Given the description of an element on the screen output the (x, y) to click on. 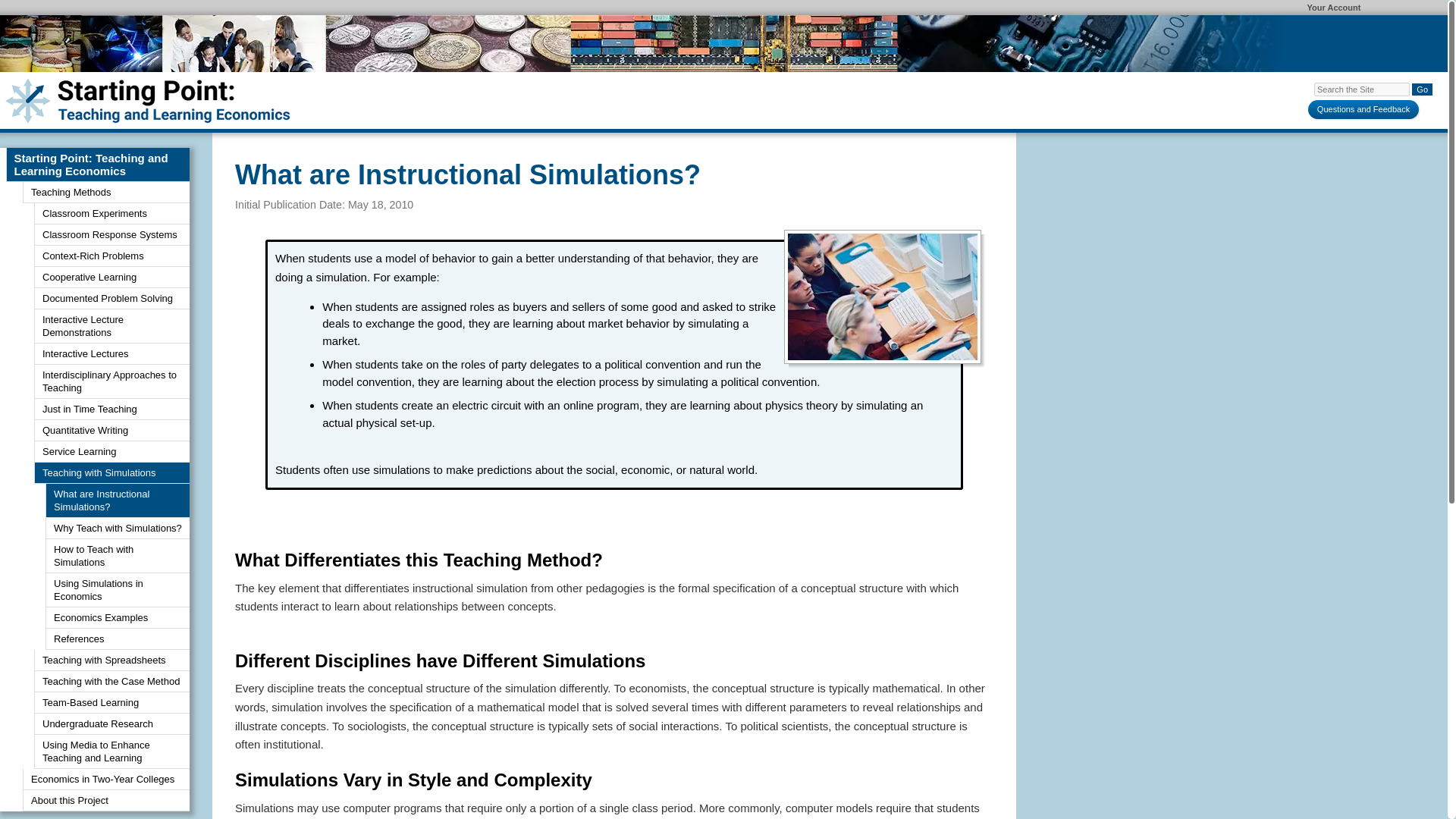
Interactive Lectures (111, 353)
Just in Time Teaching (111, 409)
How to Teach with Simulations (117, 555)
Teaching Methods (106, 192)
Team-Based Learning (111, 702)
Teaching with Spreadsheets (111, 660)
References (117, 639)
Teaching with Simulations (111, 473)
Starting Point: Teaching and Learning Economics (97, 164)
Using Simulations in Economics (117, 590)
Economics Examples (117, 617)
Undergraduate Research (111, 723)
Context-Rich Problems (111, 255)
Classroom Response Systems (111, 234)
Quantitative Writing (111, 430)
